Given the description of an element on the screen output the (x, y) to click on. 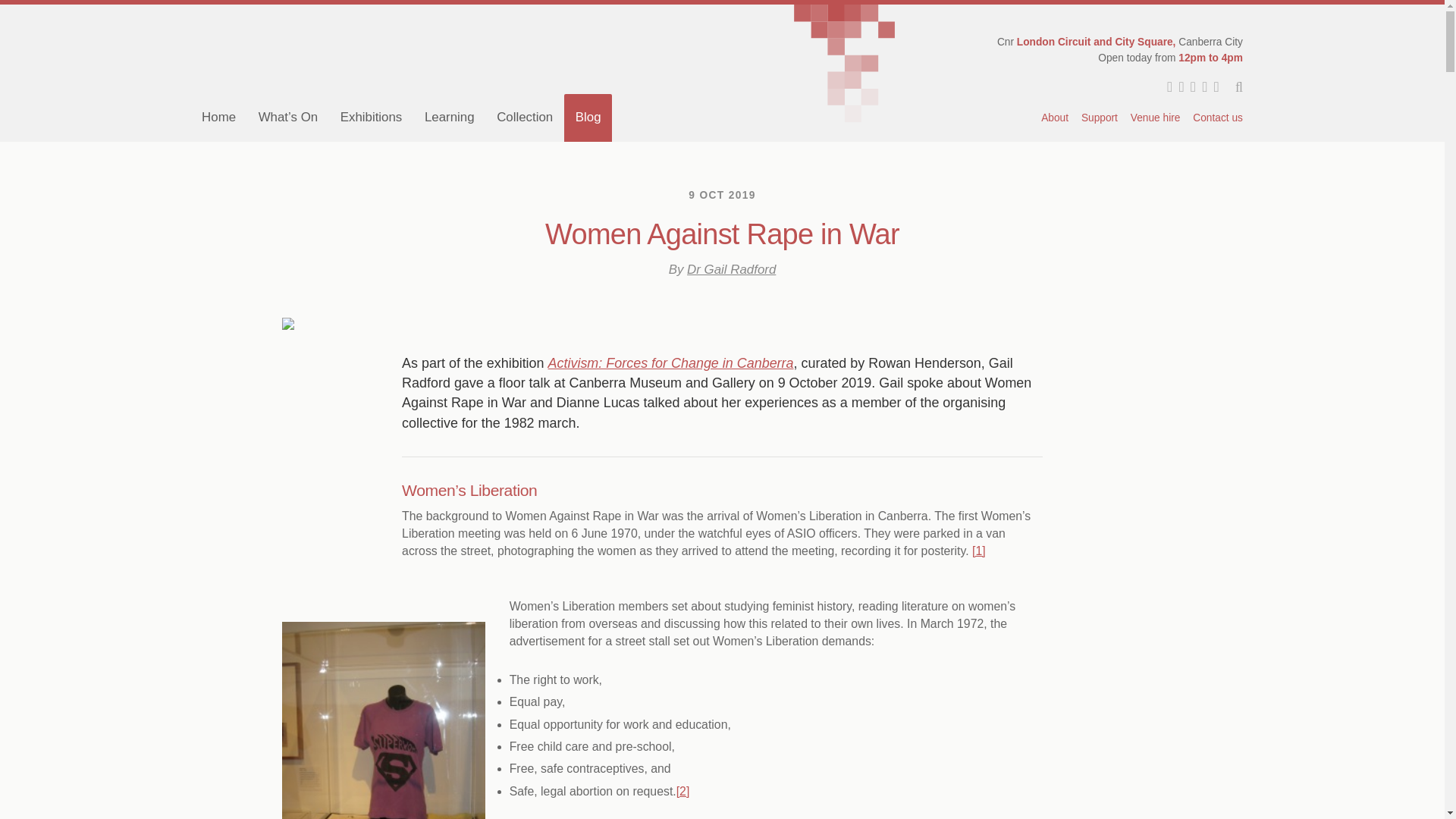
Collection (524, 117)
Exhibitions (371, 117)
Activism: Forces for Change in Canberra (670, 363)
Contact us (1214, 118)
Facebook (1177, 87)
Search Canberra Museum and Gallery (1231, 87)
Venue hire (1155, 118)
Twitter (1166, 87)
Dr Gail Radford (731, 269)
Flickr (1190, 87)
About (1055, 118)
Learning (448, 117)
Home (218, 117)
Blog (587, 117)
Instagram (1212, 87)
